Given the description of an element on the screen output the (x, y) to click on. 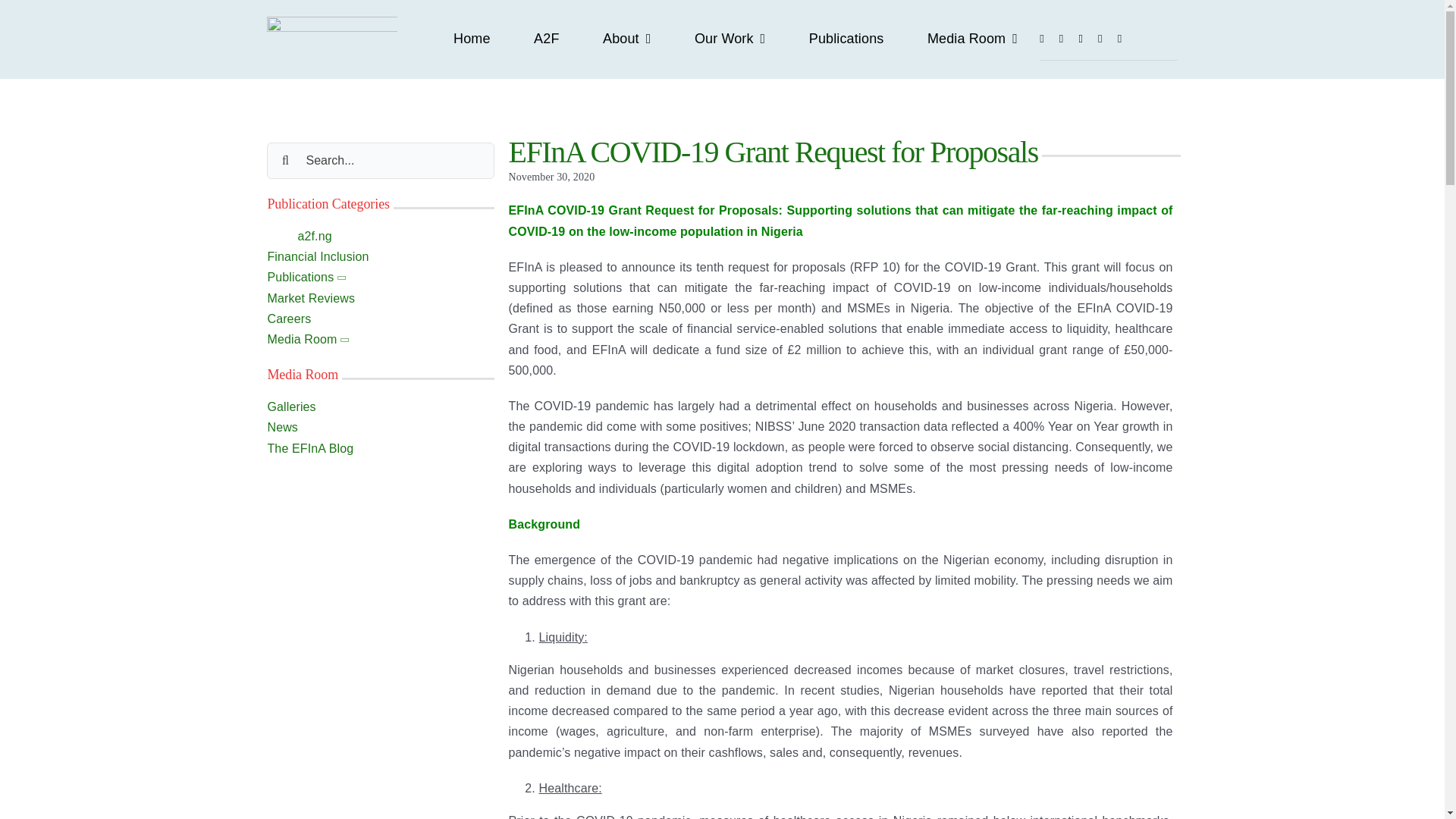
A2F (545, 39)
Home (471, 39)
Media Room (972, 39)
Publications (846, 39)
Our Work (730, 39)
About (626, 39)
